Given the description of an element on the screen output the (x, y) to click on. 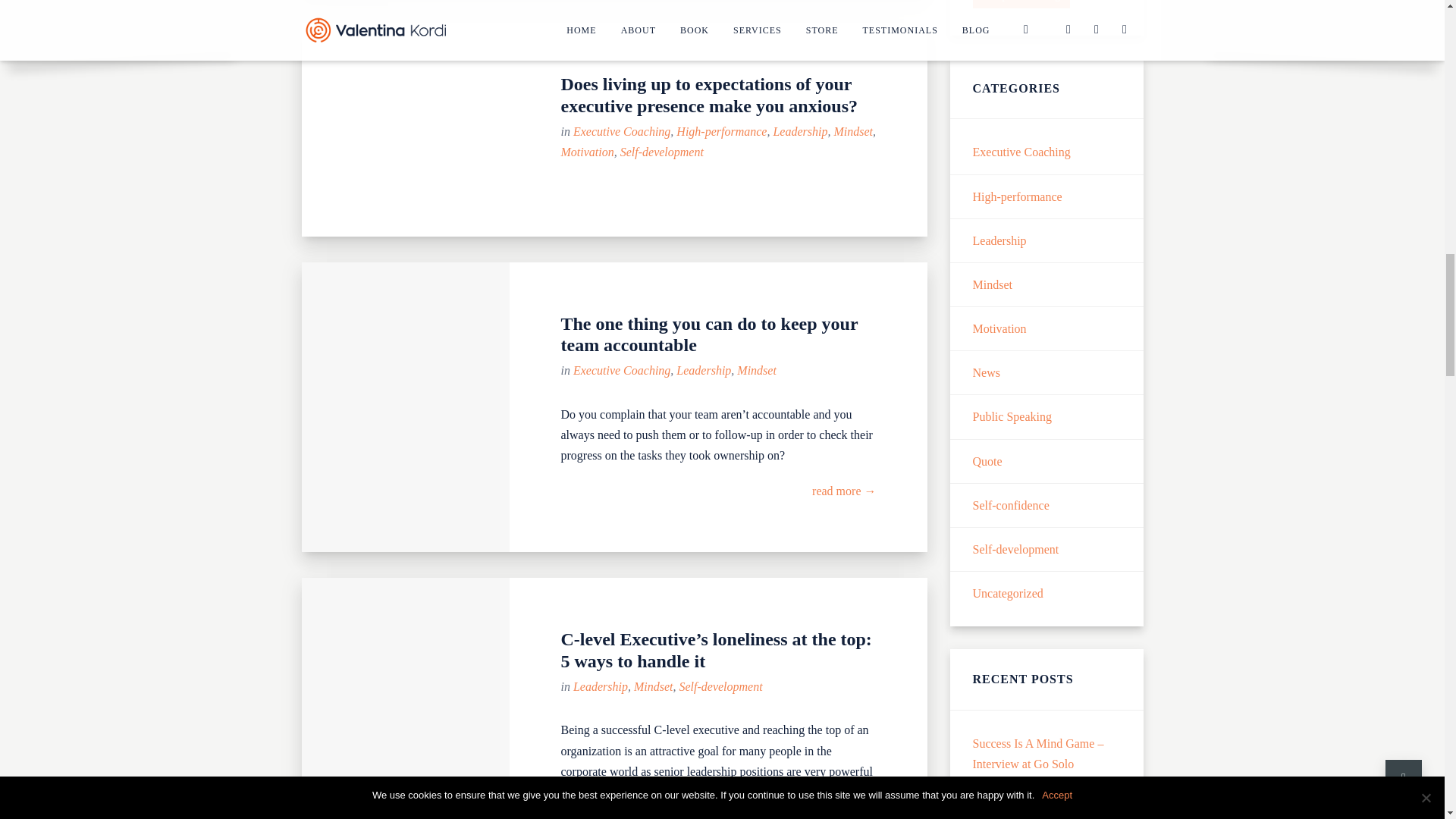
Executive Coaching (621, 131)
